Given the description of an element on the screen output the (x, y) to click on. 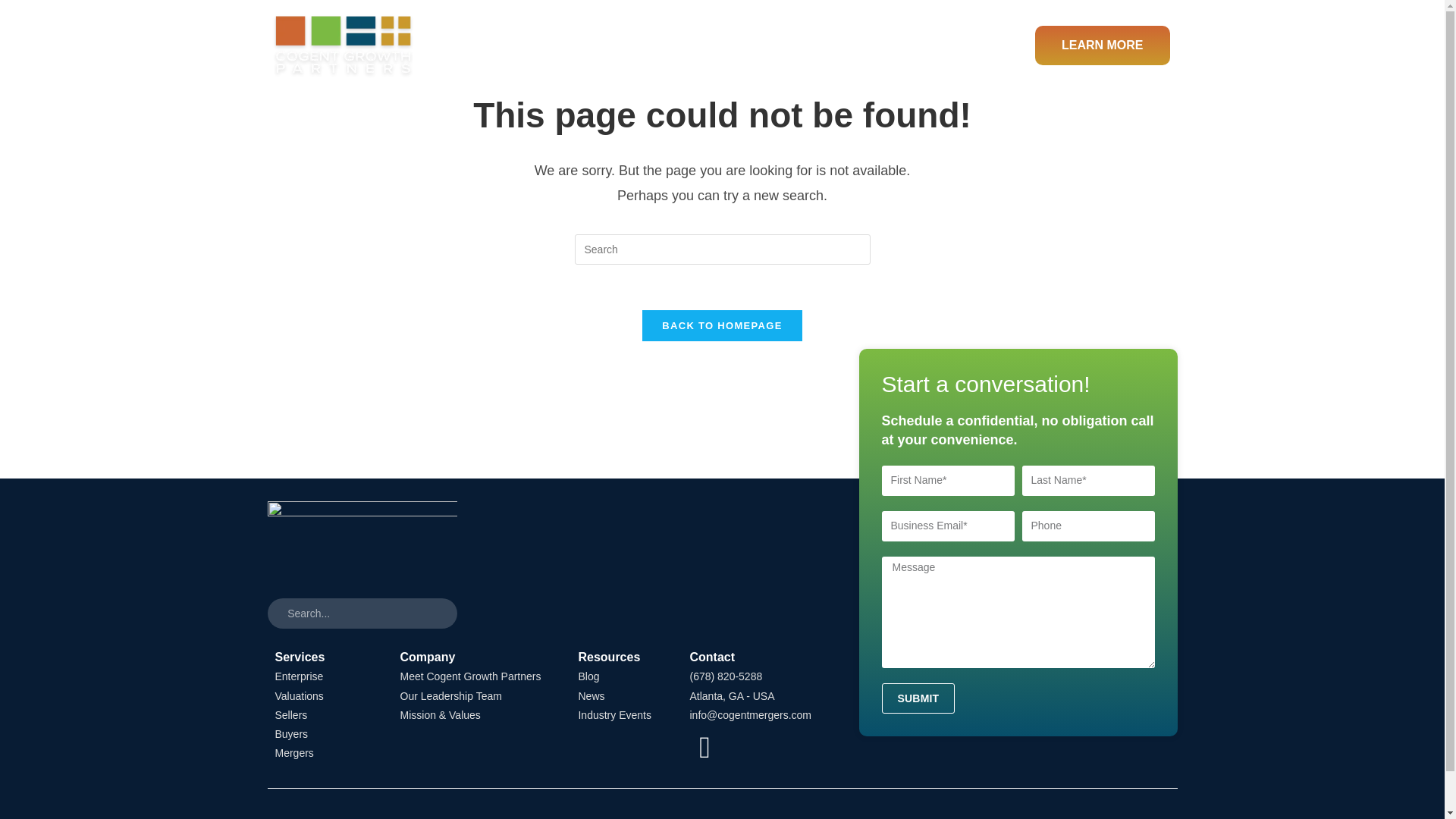
Meet Cogent Growth Partners (474, 676)
Mergers (322, 752)
Our Leadership Team (474, 696)
Enterprise Valuations (322, 686)
Resources (941, 45)
LEARN MORE (1102, 45)
BACK TO HOMEPAGE (722, 325)
Sellers (322, 714)
SUBMIT (917, 698)
Buyers (322, 733)
